Given the description of an element on the screen output the (x, y) to click on. 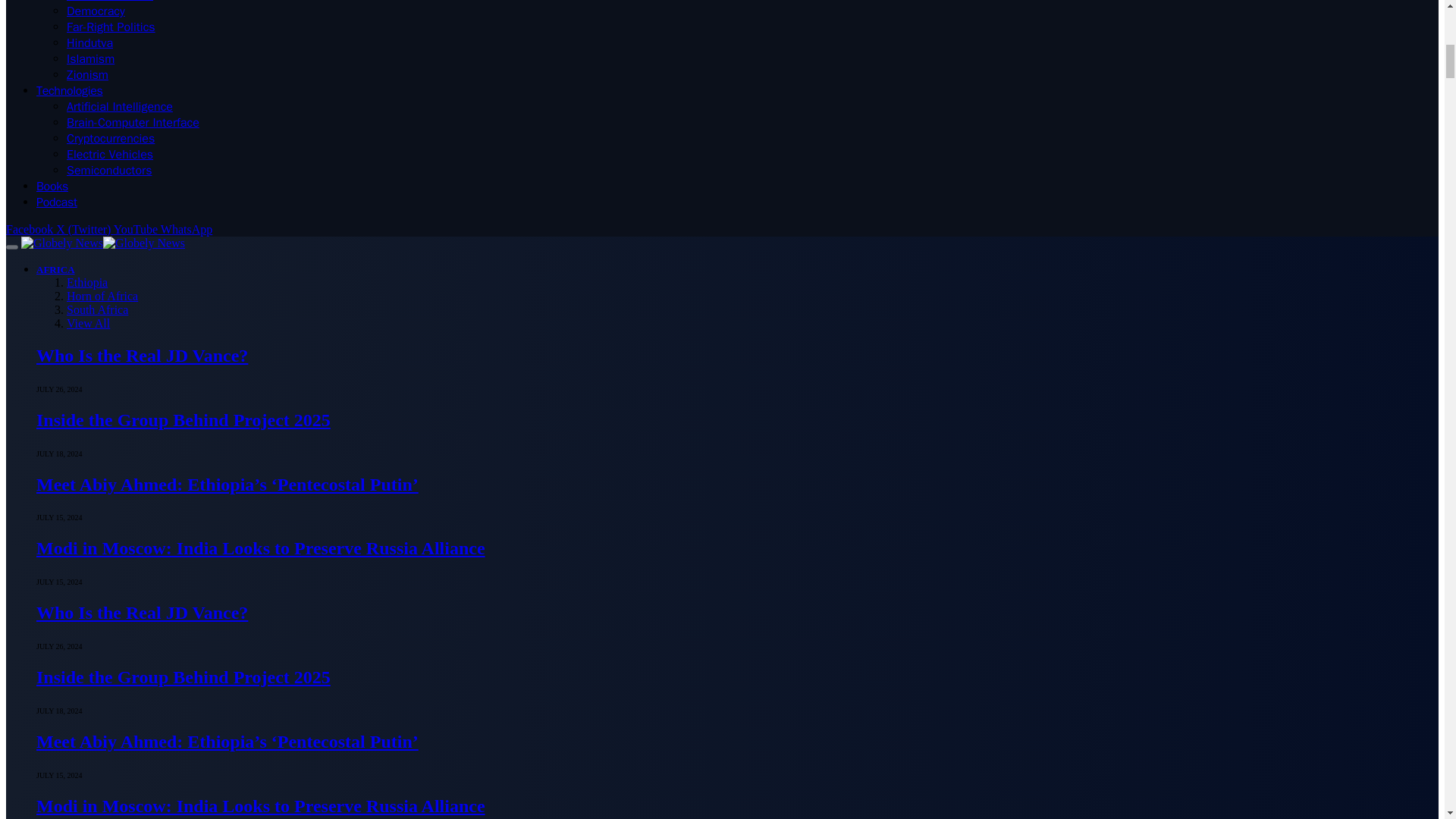
Globely News (102, 242)
